Given the description of an element on the screen output the (x, y) to click on. 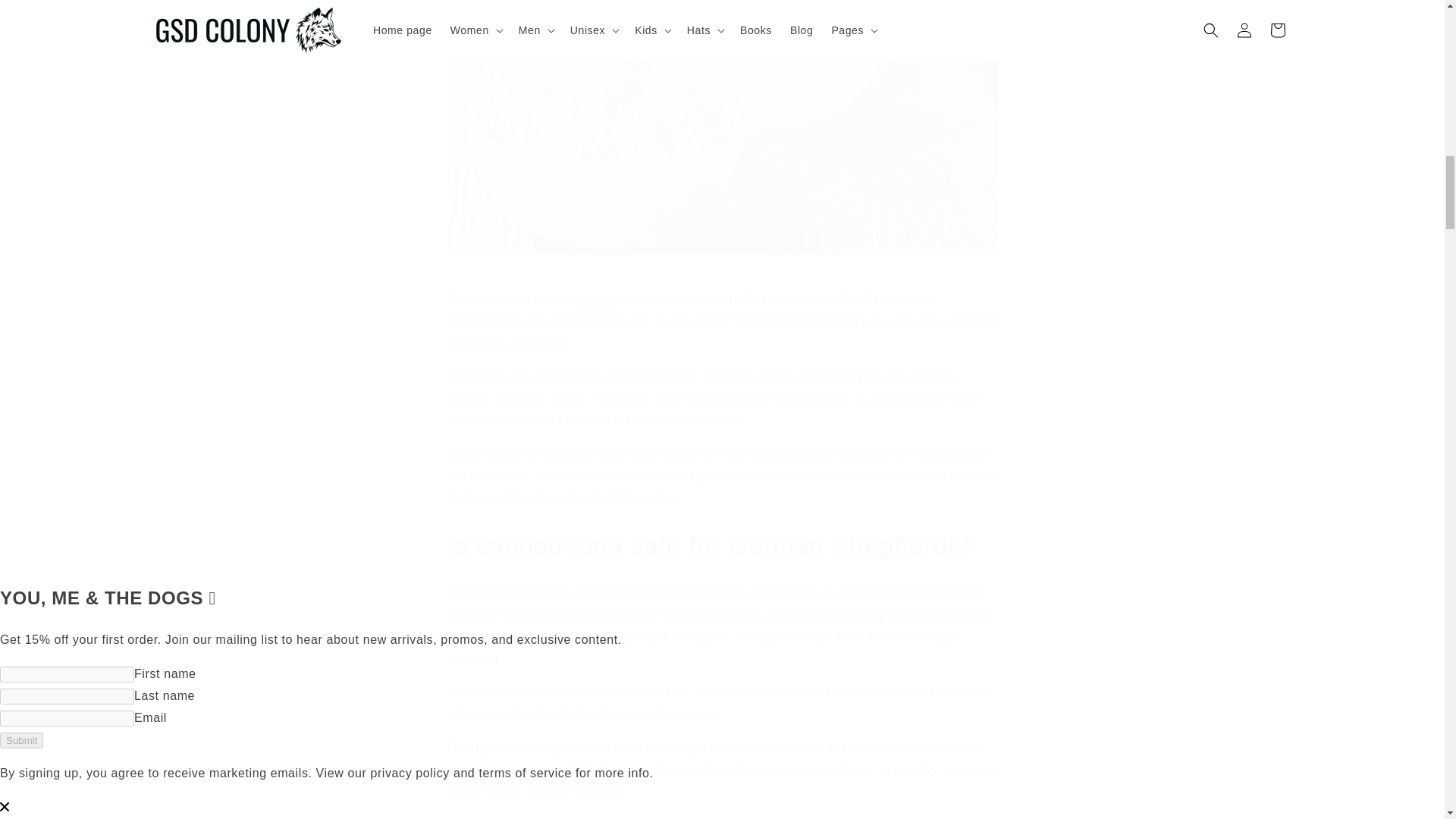
Mercury Poisoning in Dogs (596, 297)
